Given the description of an element on the screen output the (x, y) to click on. 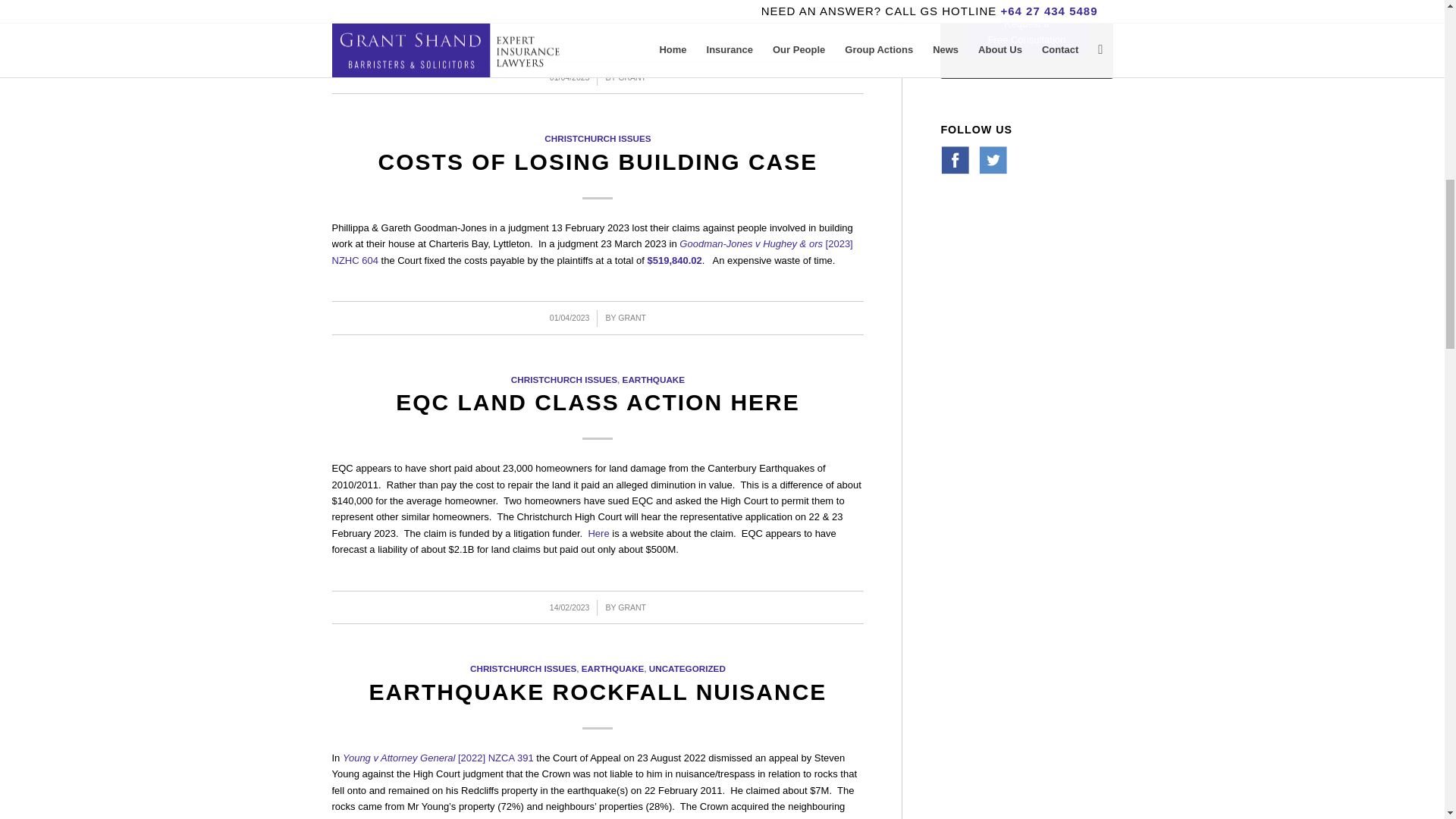
Permanent Link: EQC land class action here (597, 401)
Permanent Link: Costs of Losing Building Case (598, 161)
Posts by Grant (631, 317)
Posts by Grant (631, 76)
Posts by Grant (631, 606)
